Given the description of an element on the screen output the (x, y) to click on. 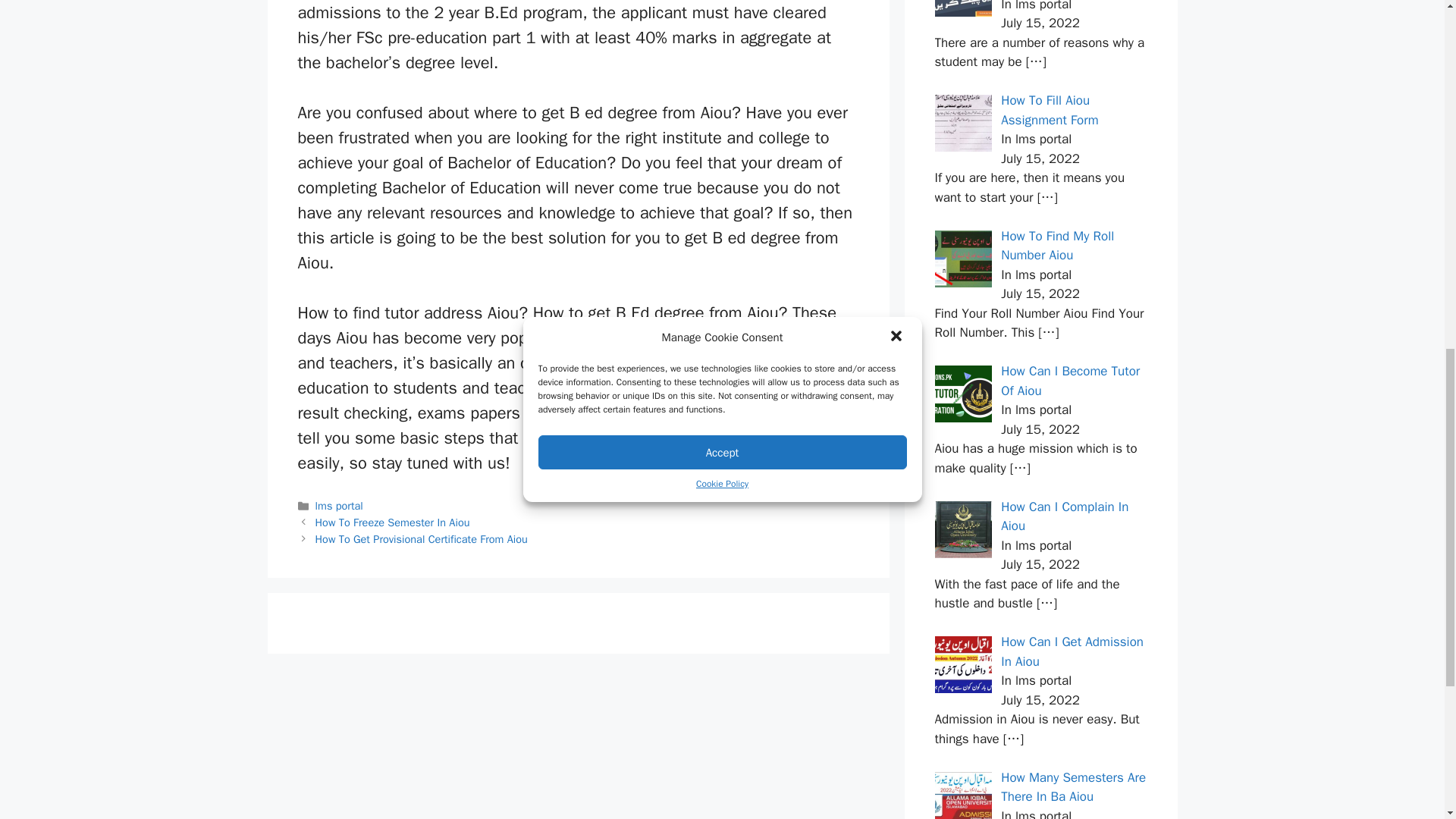
How To Freeze Semester In Aiou (392, 522)
How To Get Provisional Certificate From Aiou (421, 539)
How To Fill Aiou Assignment Form (1049, 109)
How Can I Become Tutor Of Aiou (1070, 380)
lms portal (338, 505)
Scroll back to top (1406, 720)
How To Find My Roll Number Aiou (1057, 244)
